Given the description of an element on the screen output the (x, y) to click on. 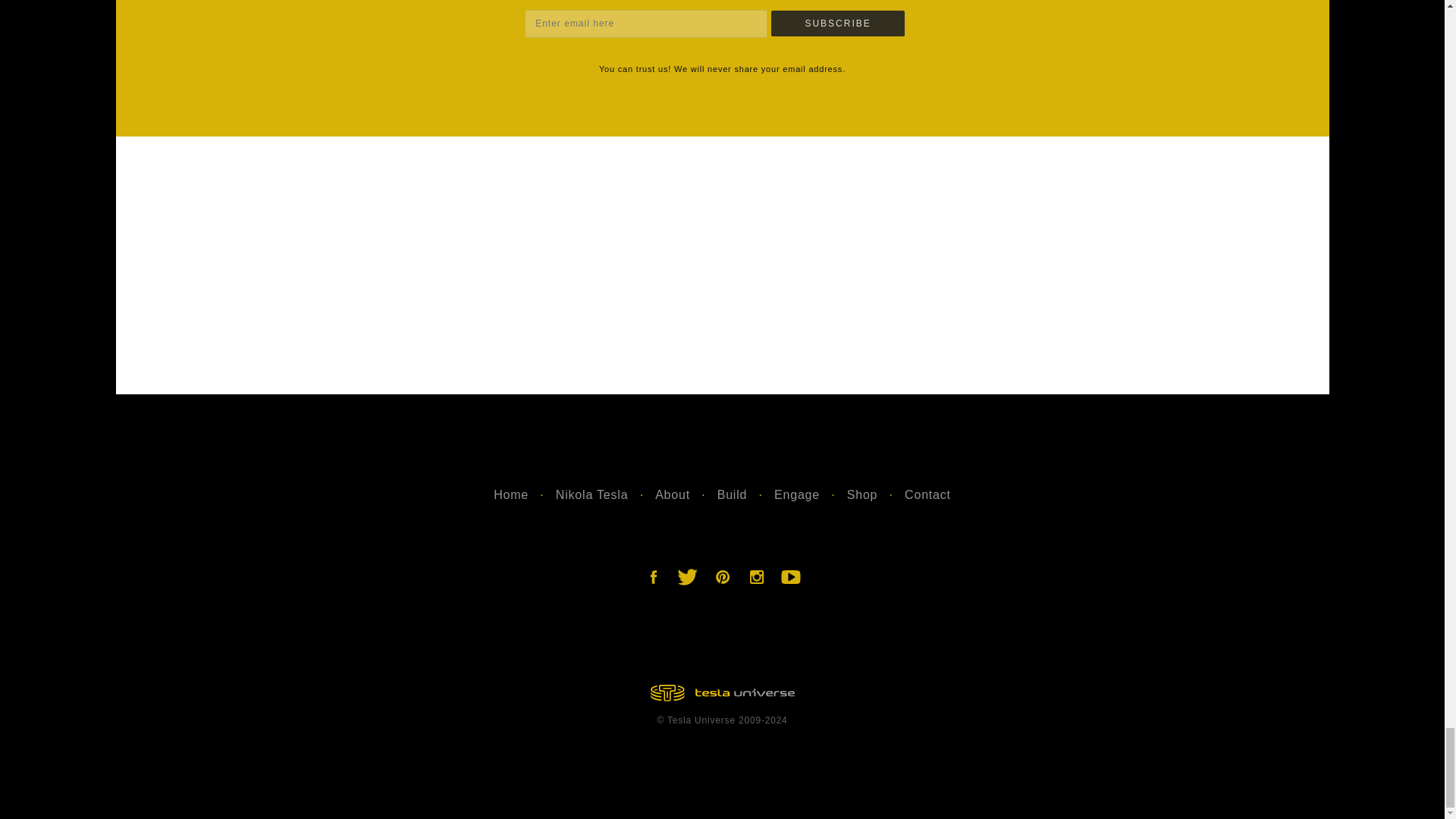
Subscribe (837, 23)
